Given the description of an element on the screen output the (x, y) to click on. 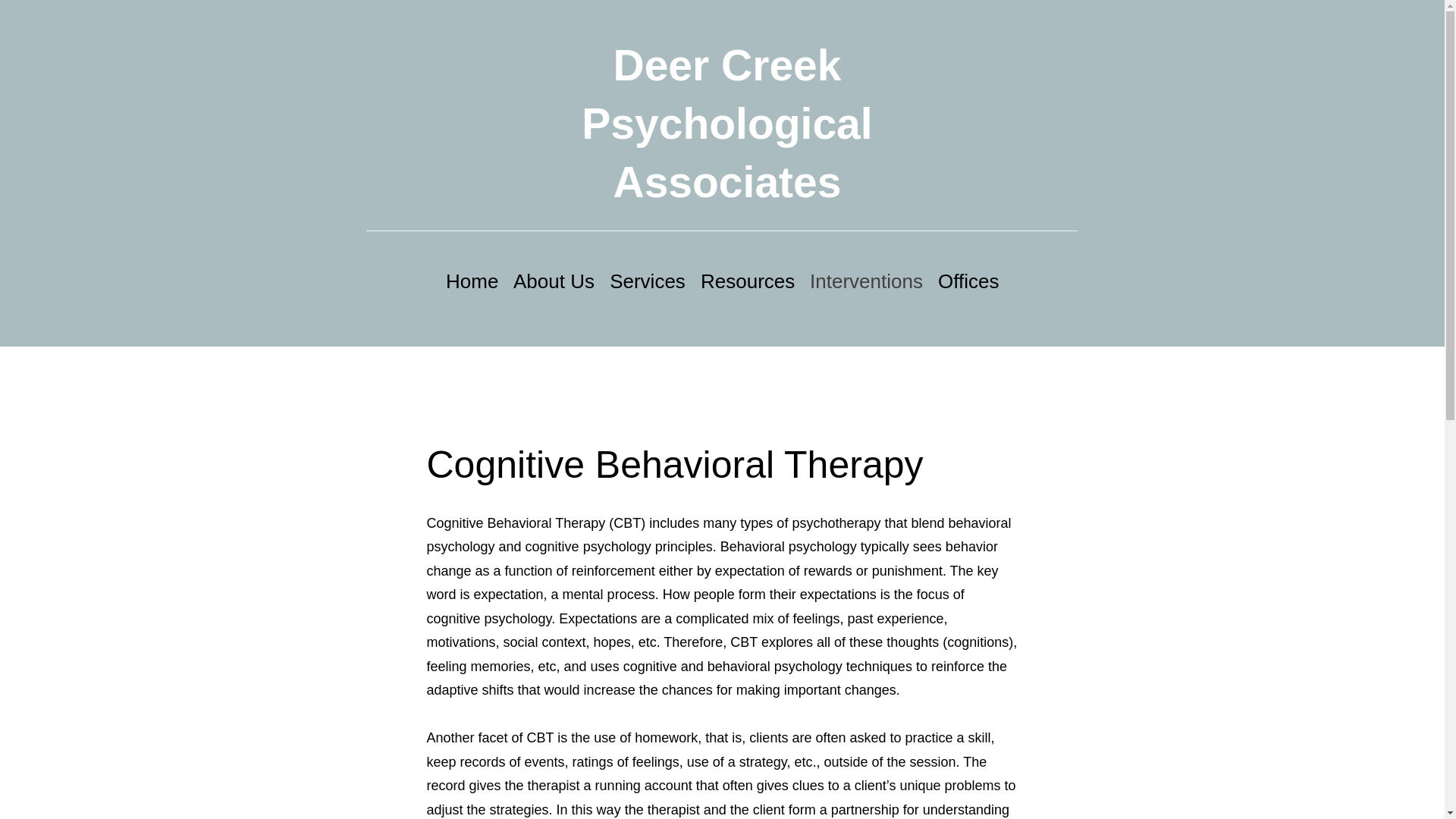
Interventions (866, 280)
About Us (553, 280)
Deer Creek Psychological Associates (726, 123)
Services (647, 280)
Resources (747, 280)
Offices (968, 280)
